Given the description of an element on the screen output the (x, y) to click on. 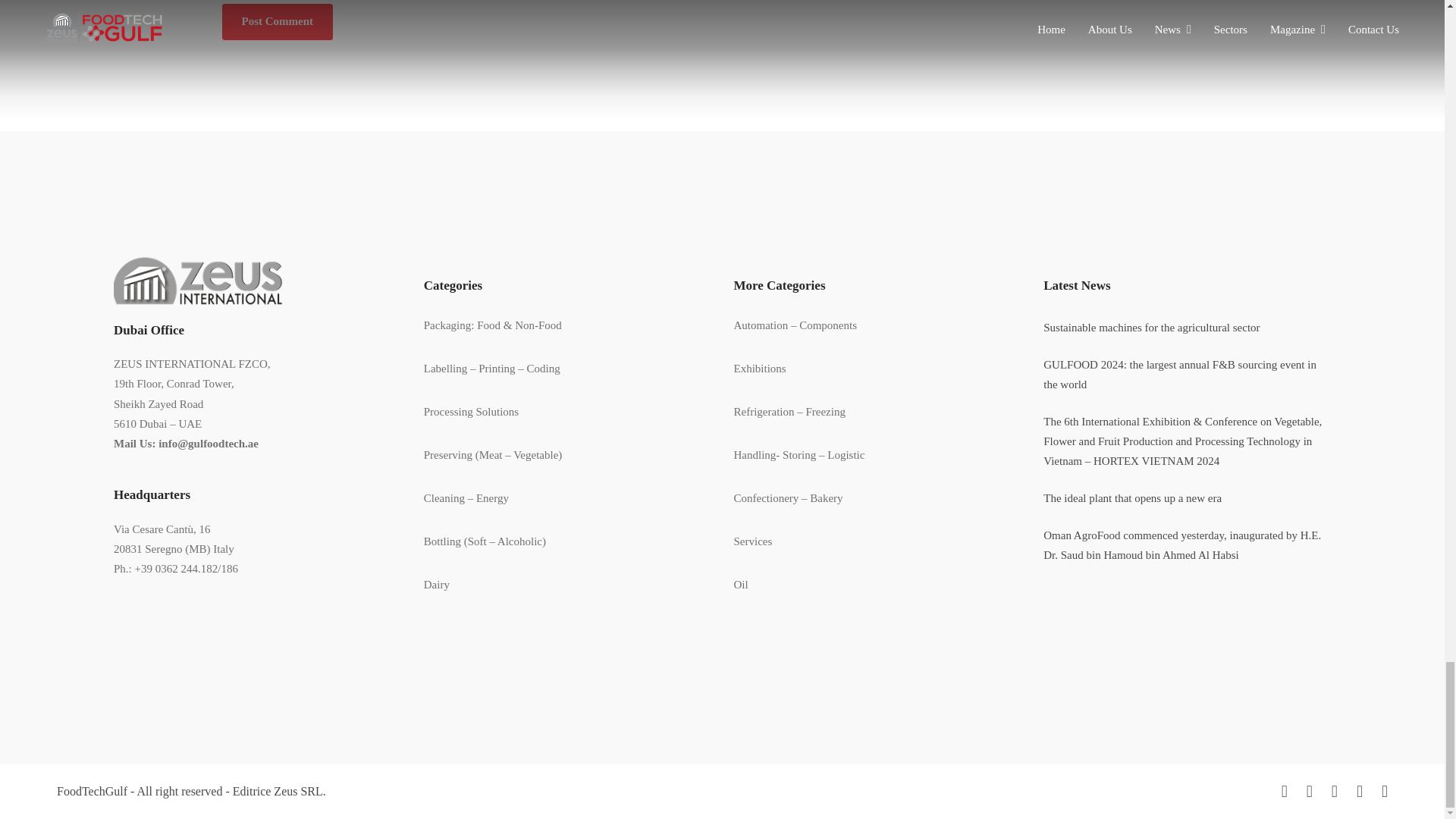
Post Comment (277, 22)
Post Comment (277, 22)
